Given the description of an element on the screen output the (x, y) to click on. 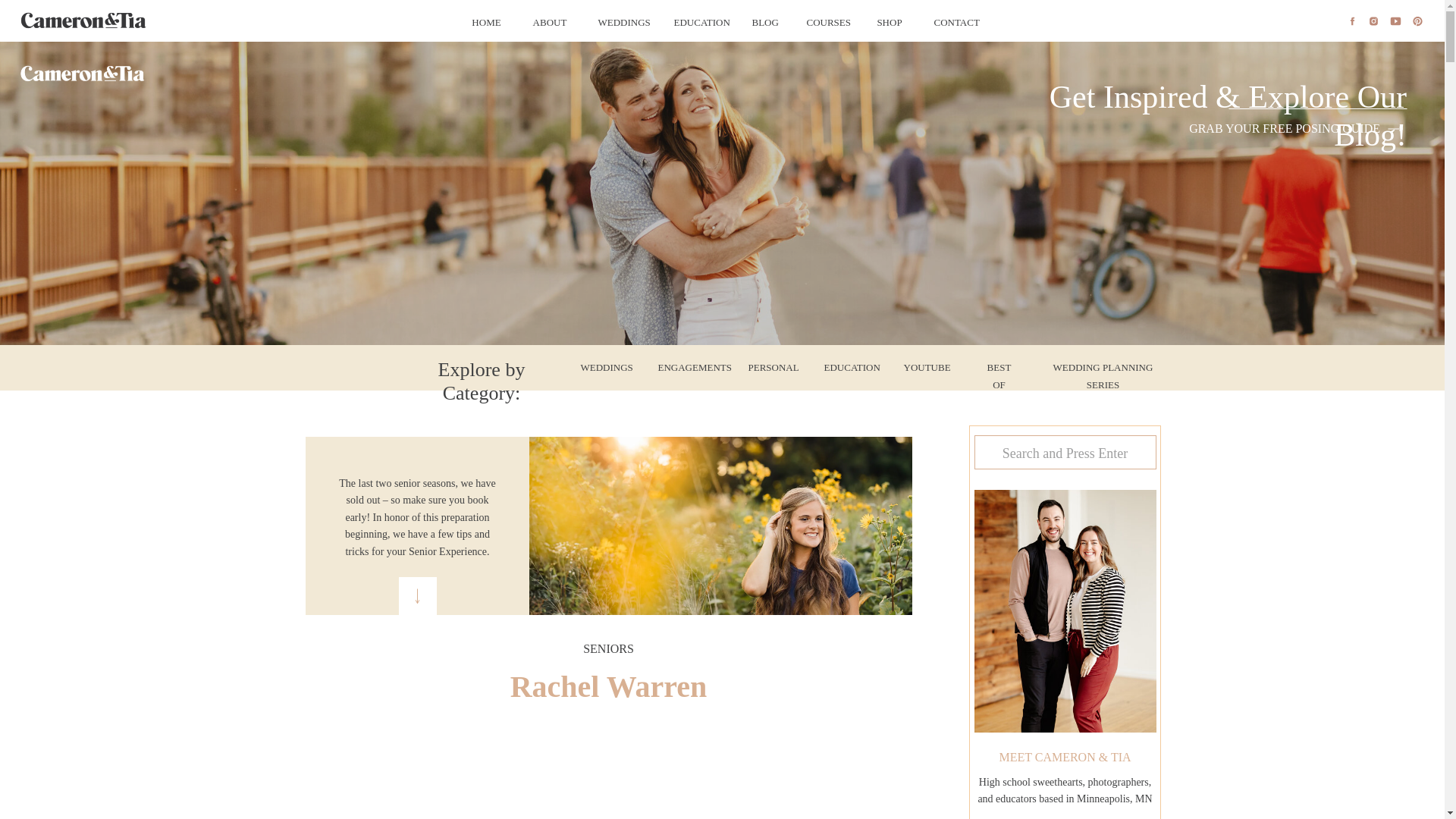
CONTACT (954, 21)
HOME (486, 21)
WEDDING PLANNING SERIES (1102, 367)
ABOUT (549, 21)
EDUCATION (696, 21)
WEDDINGS (600, 367)
EDUCATION (845, 367)
WEDDINGS (619, 21)
BEST OF (998, 367)
COURSES (825, 21)
YOUTUBE (925, 367)
GRAB YOUR FREE POSING GUIDE (1276, 128)
PERSONAL (767, 367)
BLOG (764, 21)
ENGAGEMENTS (684, 367)
